Given the description of an element on the screen output the (x, y) to click on. 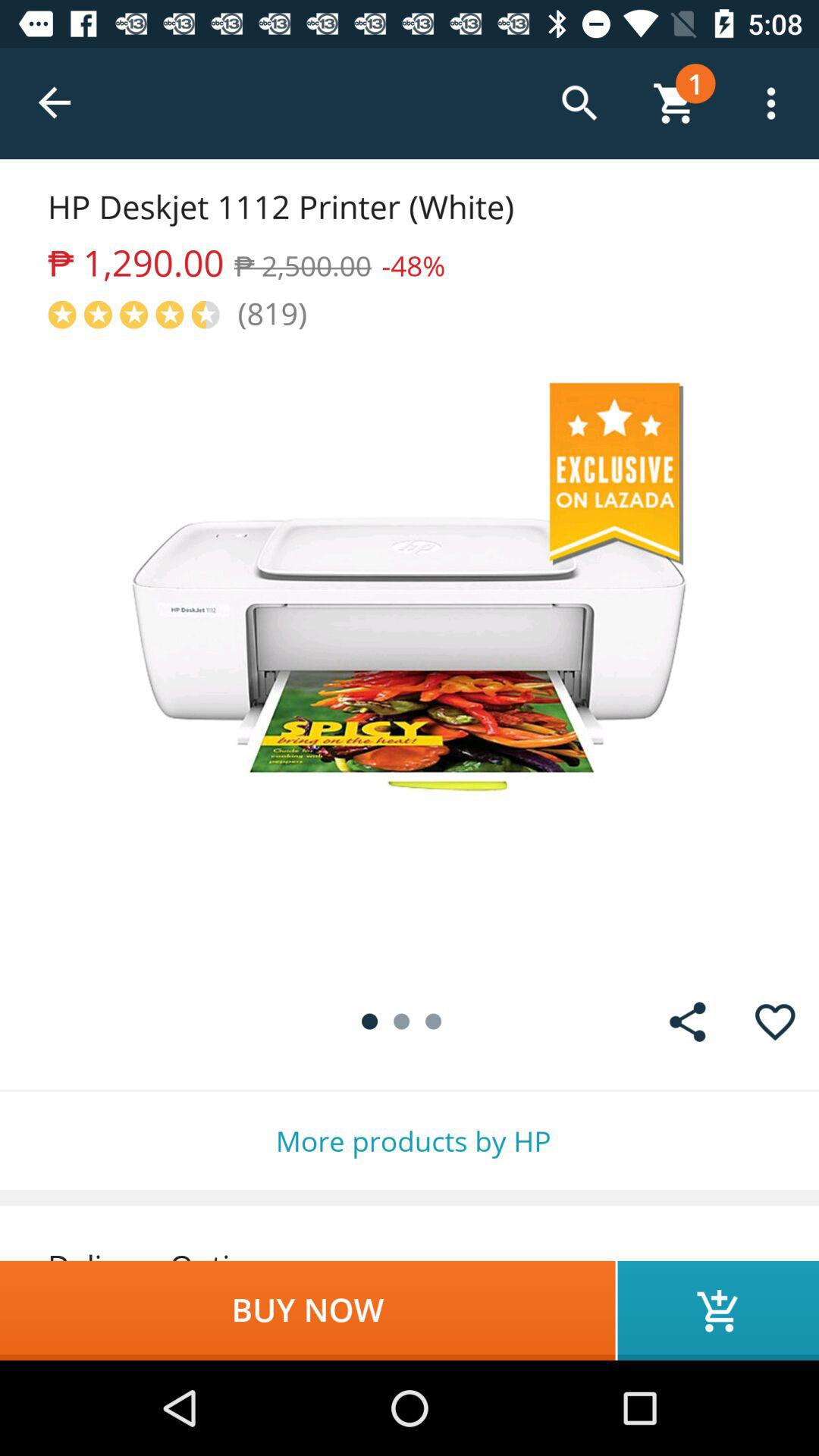
enlarge image (409, 655)
